Given the description of an element on the screen output the (x, y) to click on. 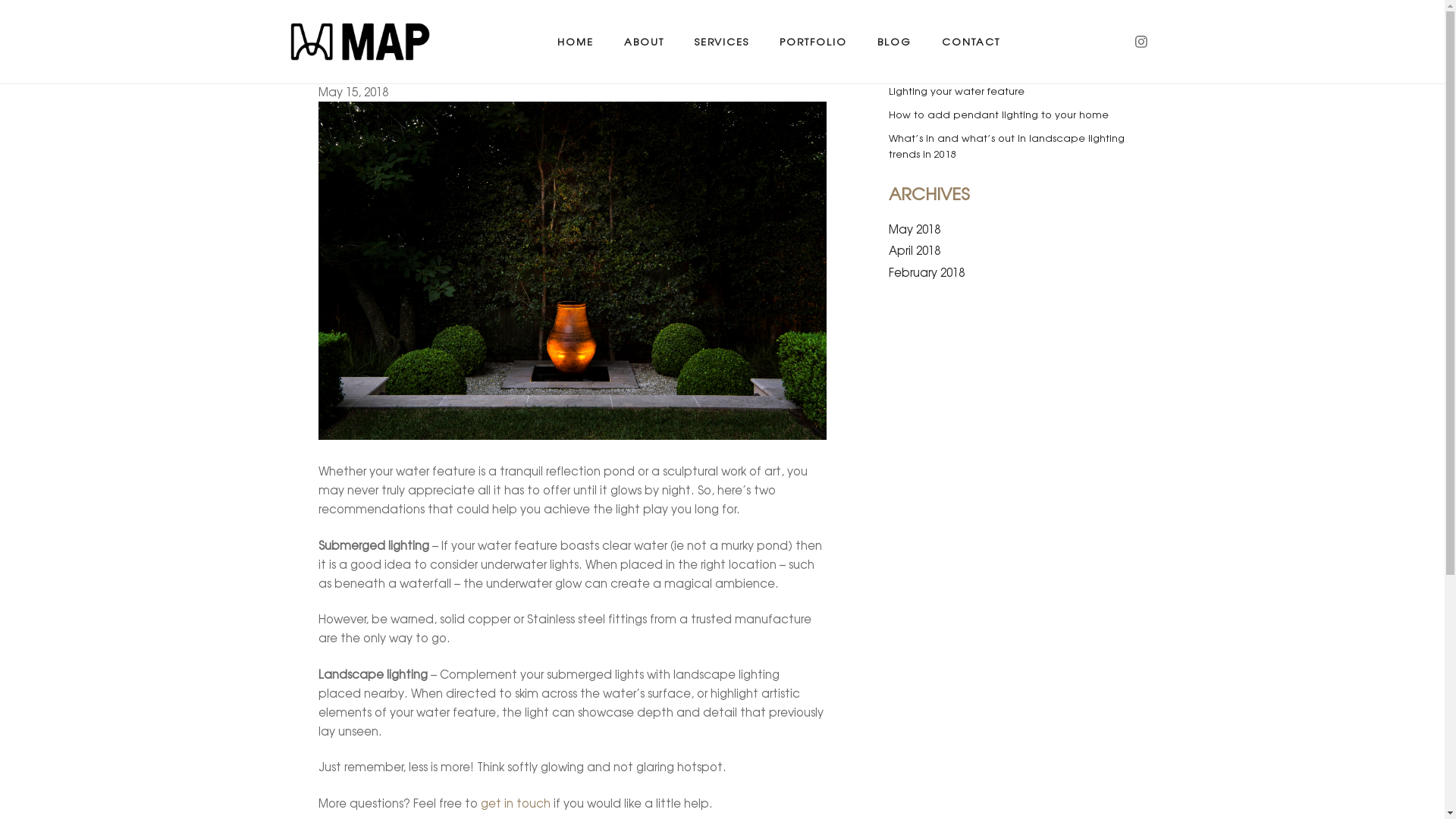
Instagram Element type: hover (1140, 41)
May 2018 Element type: text (914, 228)
CONTACT Element type: text (970, 41)
February 2018 Element type: text (926, 272)
get in touch Element type: text (515, 802)
April 2018 Element type: text (914, 250)
PORTFOLIO Element type: text (813, 41)
SERVICES Element type: text (721, 41)
ABOUT Element type: text (643, 41)
HOME Element type: text (575, 41)
BLOG Element type: text (894, 41)
How to add pendant lighting to your home Element type: text (998, 114)
Lighting your water feature Element type: text (956, 90)
